Given the description of an element on the screen output the (x, y) to click on. 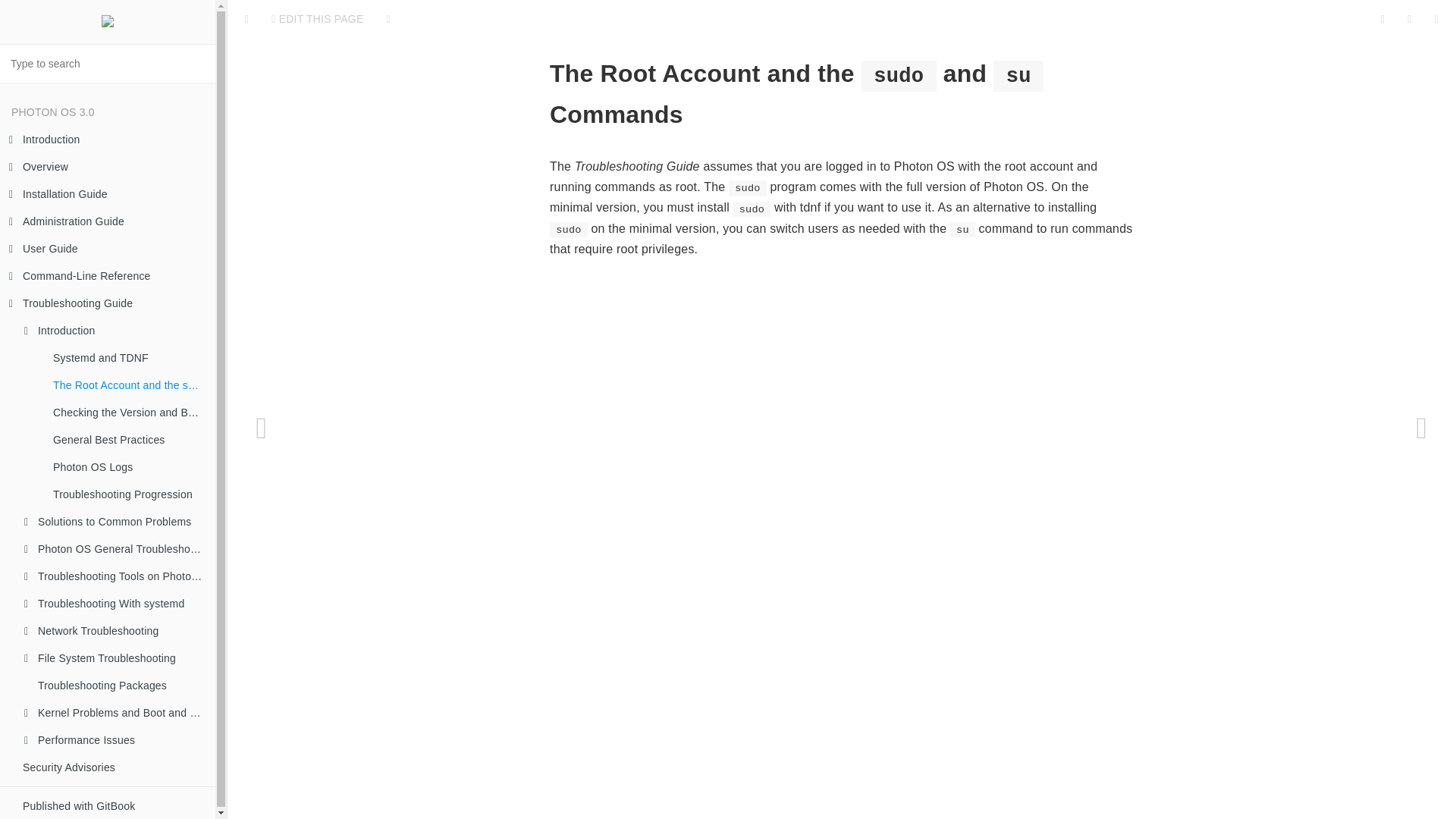
Overview (107, 166)
Installation Guide (107, 194)
Introduction (107, 139)
